Given the description of an element on the screen output the (x, y) to click on. 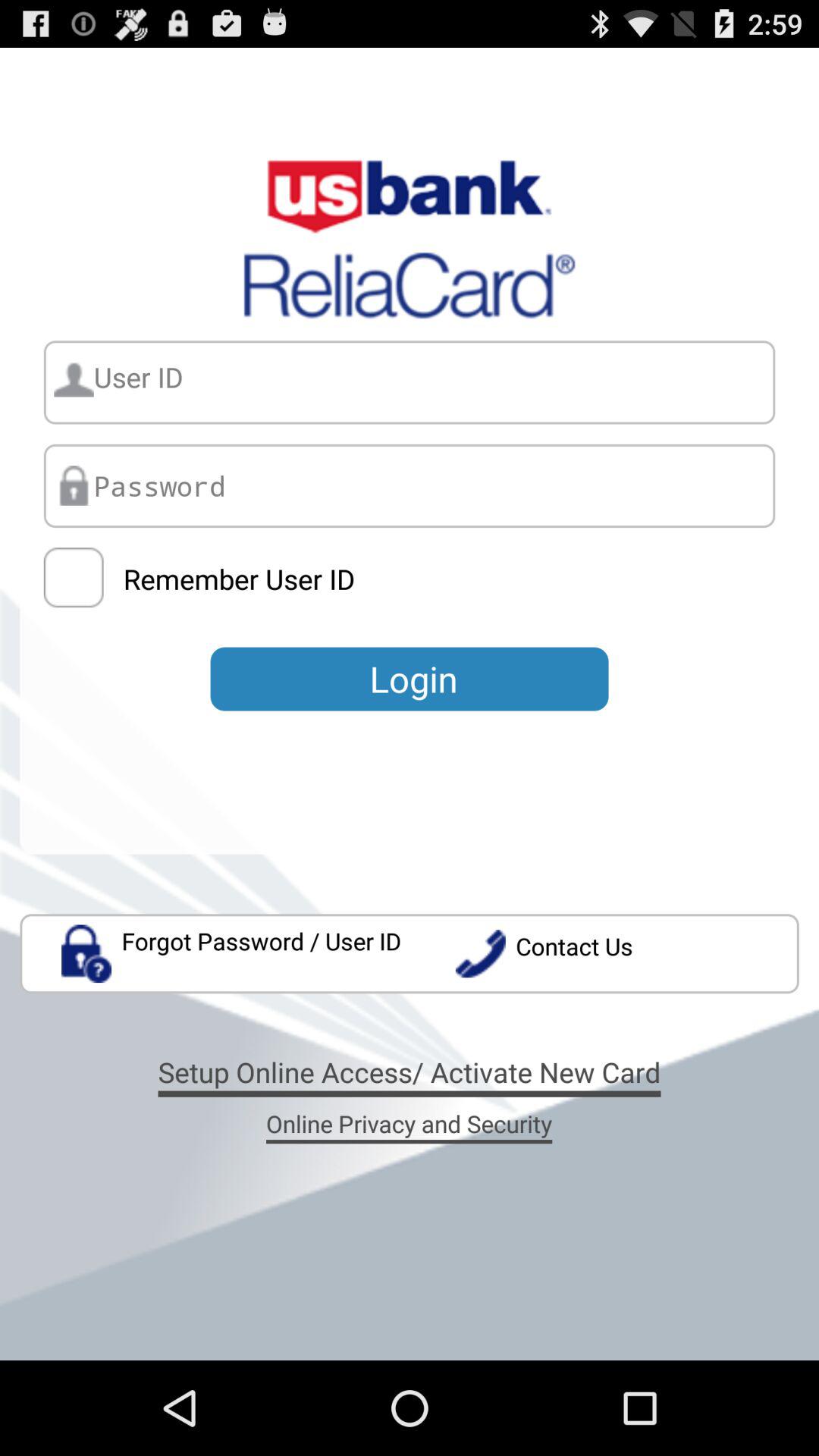
launch the icon on the right (626, 953)
